Given the description of an element on the screen output the (x, y) to click on. 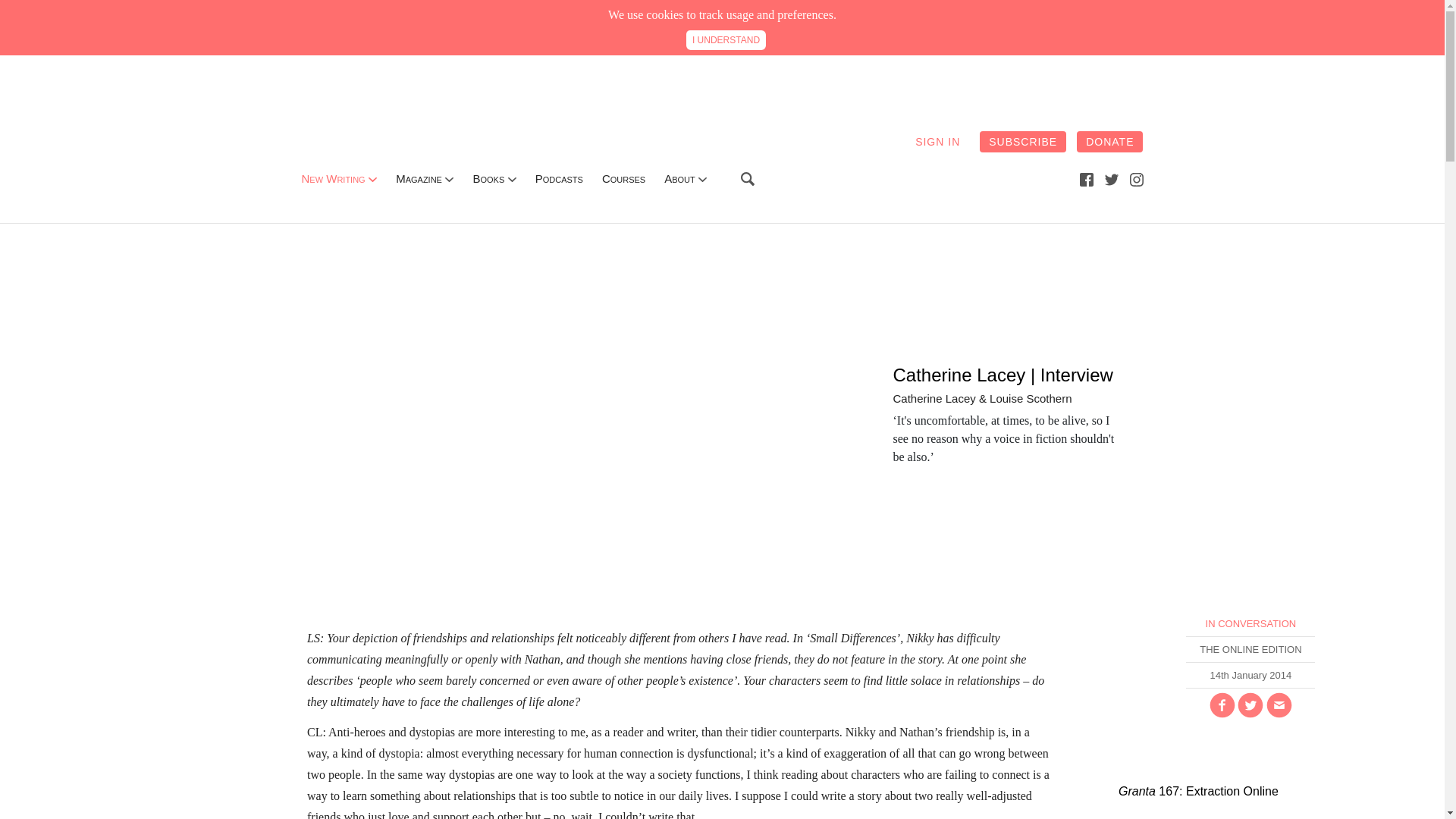
twitter-with-circle Created with Sketch. (1250, 705)
Courses (623, 178)
about (679, 178)
twitter Created with Sketch. (1111, 179)
facebook Created with Sketch. (1086, 178)
magnifying-glass Created with Sketch. (747, 178)
books (487, 178)
SIGN IN (937, 141)
facebook-with-circle Created with Sketch. (1221, 705)
magazine (419, 178)
